Given the description of an element on the screen output the (x, y) to click on. 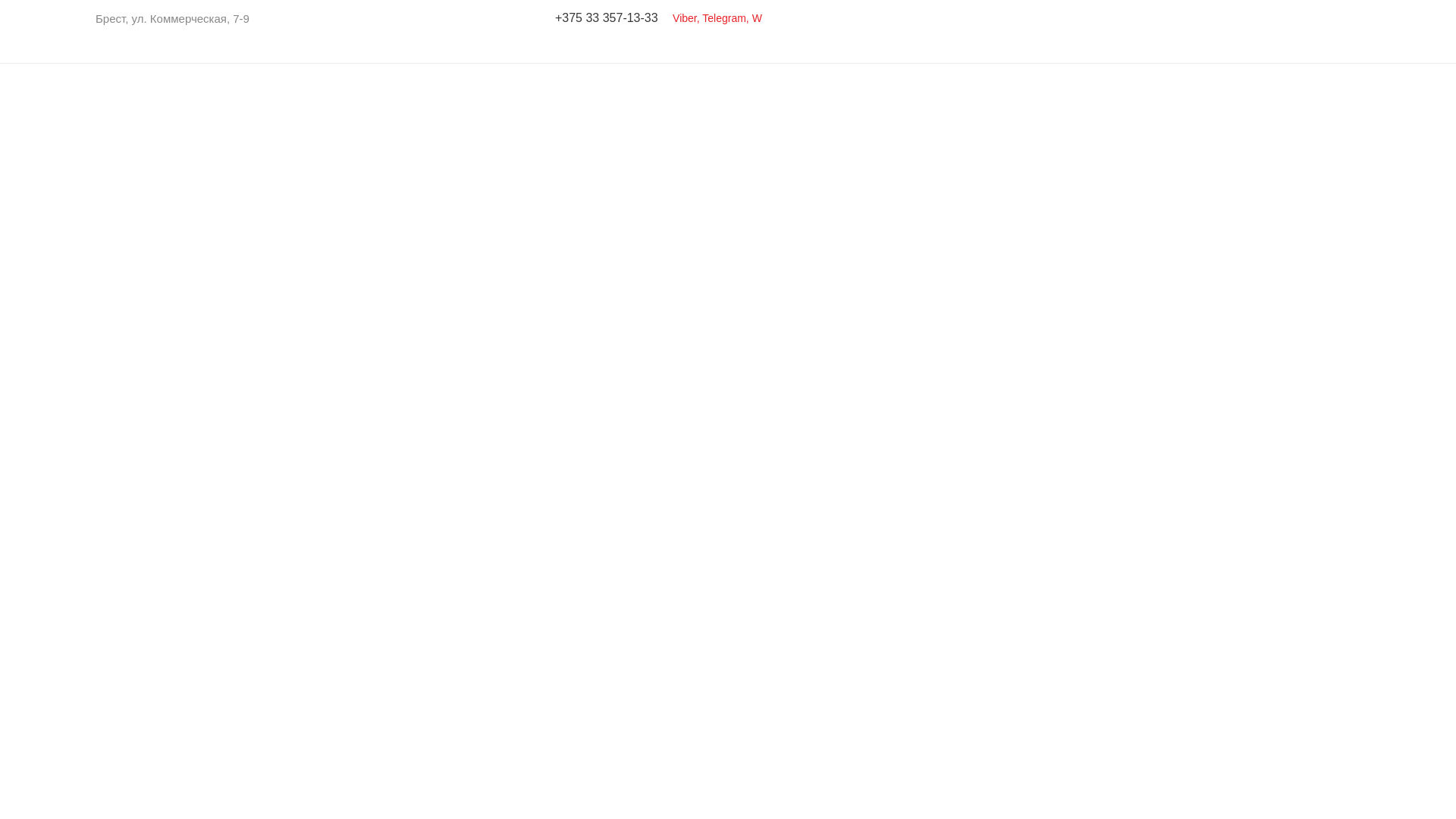
+375 33 357-13-33 Element type: text (606, 17)
